Given the description of an element on the screen output the (x, y) to click on. 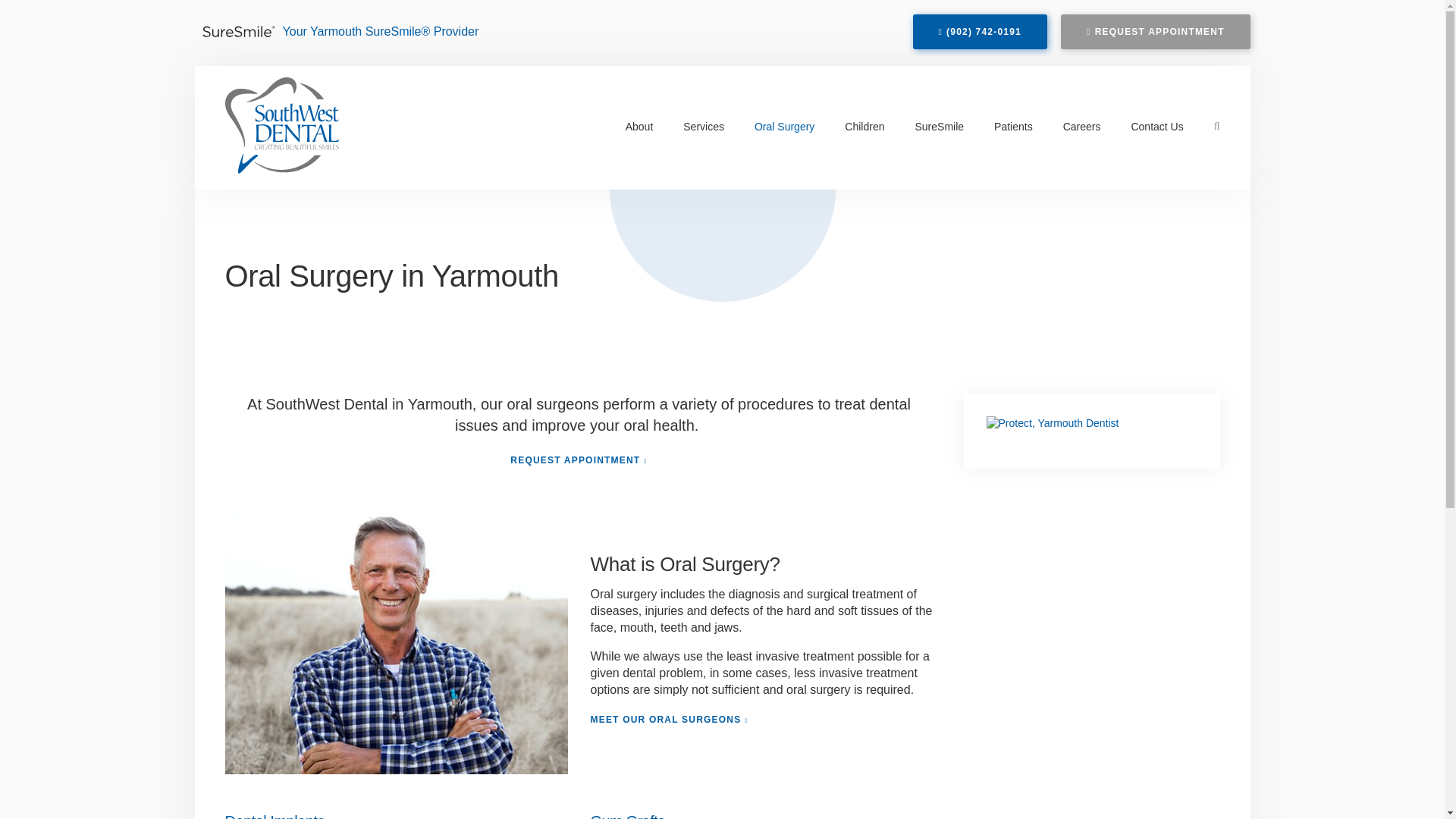
Careers (1082, 126)
About SouthWest Dental, Yarmouth Dentist (639, 126)
Contact Us (1156, 126)
MEET OUR ORAL SURGEONS (668, 719)
SureSmile (938, 126)
Oral Surgery, SouthWest Dental, Yarmouth Dentist (784, 126)
SureSmile Clear Aligners, SouthWest Dental, Yarmouth Dentist (938, 126)
About (639, 126)
REQUEST APPOINTMENT (578, 460)
REQUEST APPOINTMENT (1155, 31)
